Given the description of an element on the screen output the (x, y) to click on. 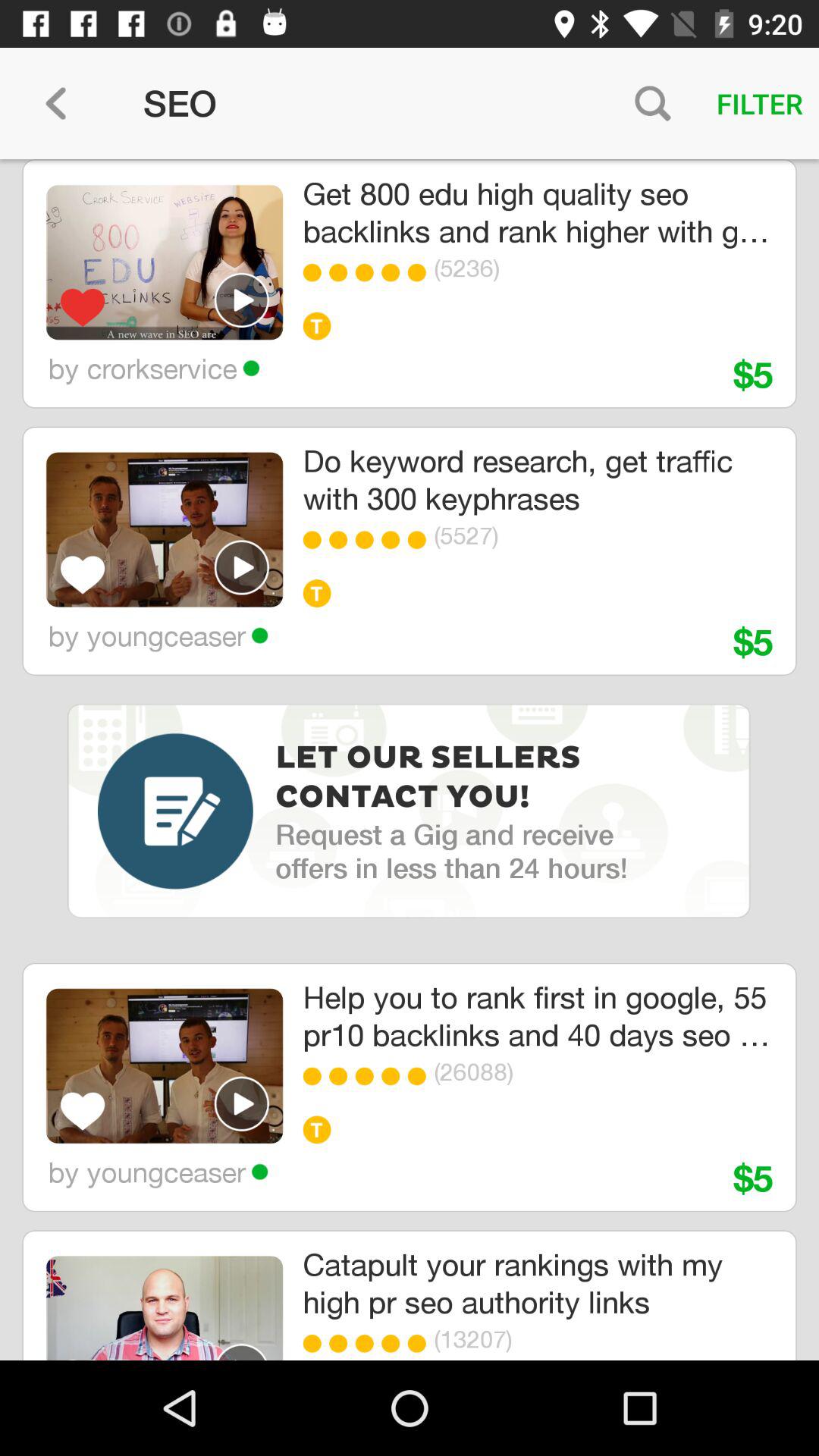
turn on item next to the (26088) item (420, 1076)
